Given the description of an element on the screen output the (x, y) to click on. 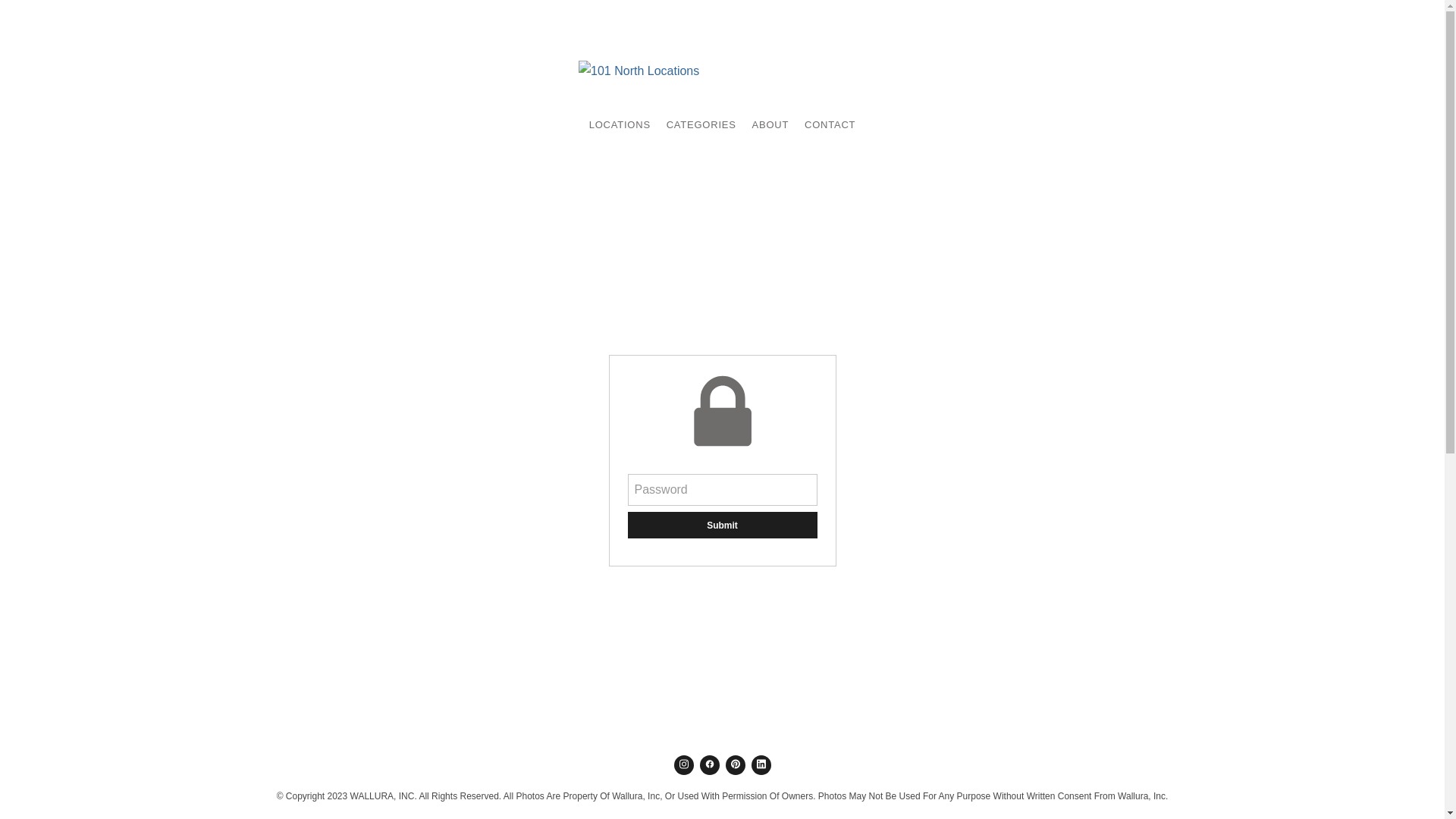
Submit Element type: text (722, 524)
CATEGORIES Element type: text (701, 125)
CONTACT Element type: text (829, 125)
101 North Locations Element type: hover (722, 70)
LOCATIONS Element type: text (619, 125)
ABOUT Element type: text (770, 125)
